Given the description of an element on the screen output the (x, y) to click on. 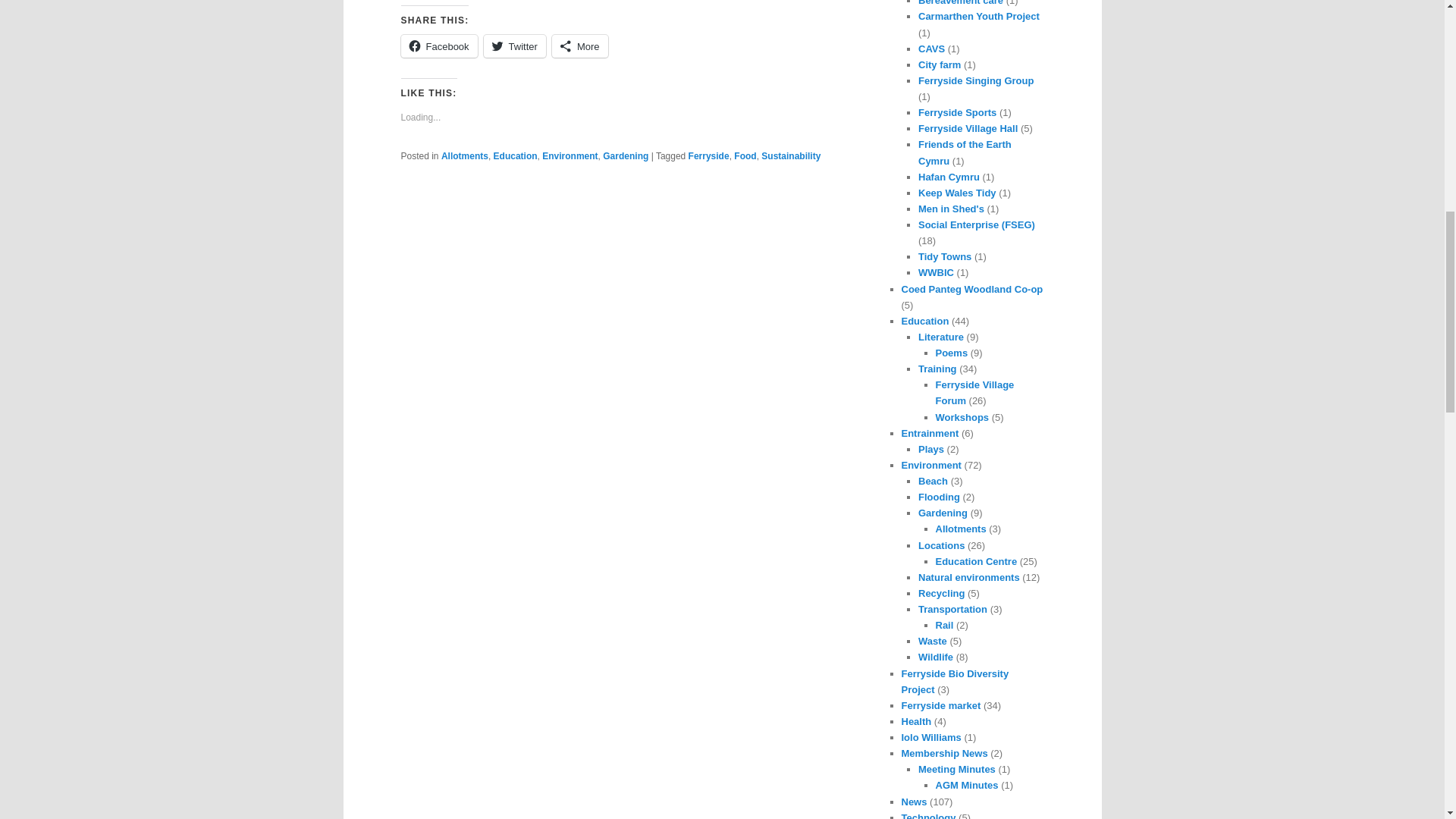
More (579, 46)
Twitter (514, 46)
Education (515, 155)
Allotments (464, 155)
Click to share on Facebook (438, 46)
Click to share on Twitter (514, 46)
Facebook (438, 46)
